Given the description of an element on the screen output the (x, y) to click on. 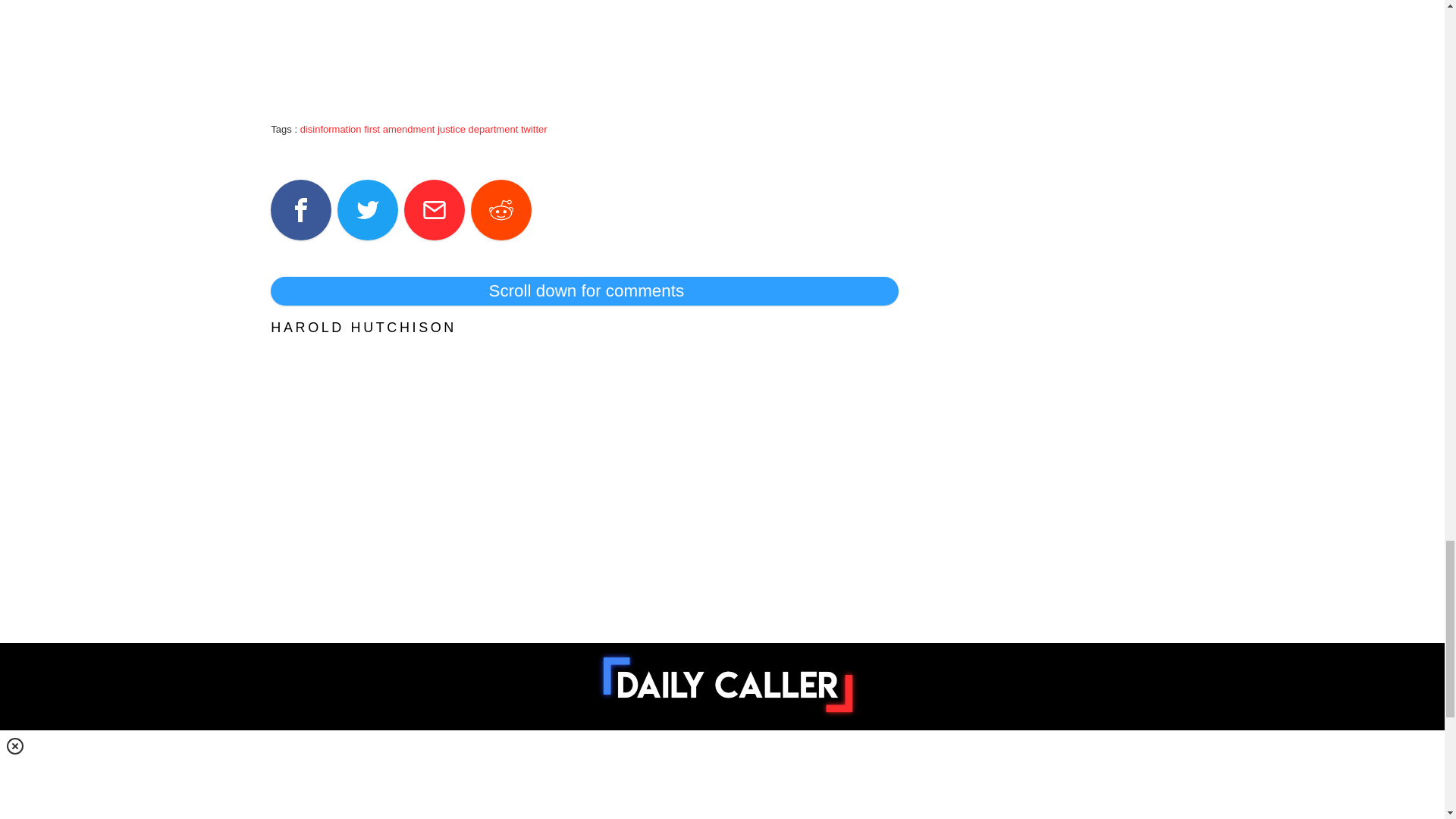
Daily Caller YouTube (797, 748)
3rd party ad content (584, 36)
Daily Caller Facebook (633, 748)
Daily Caller YouTube (852, 748)
Daily Caller Instagram (742, 748)
To home page (727, 684)
Scroll down for comments (584, 290)
Daily Caller Twitter (688, 748)
